Given the description of an element on the screen output the (x, y) to click on. 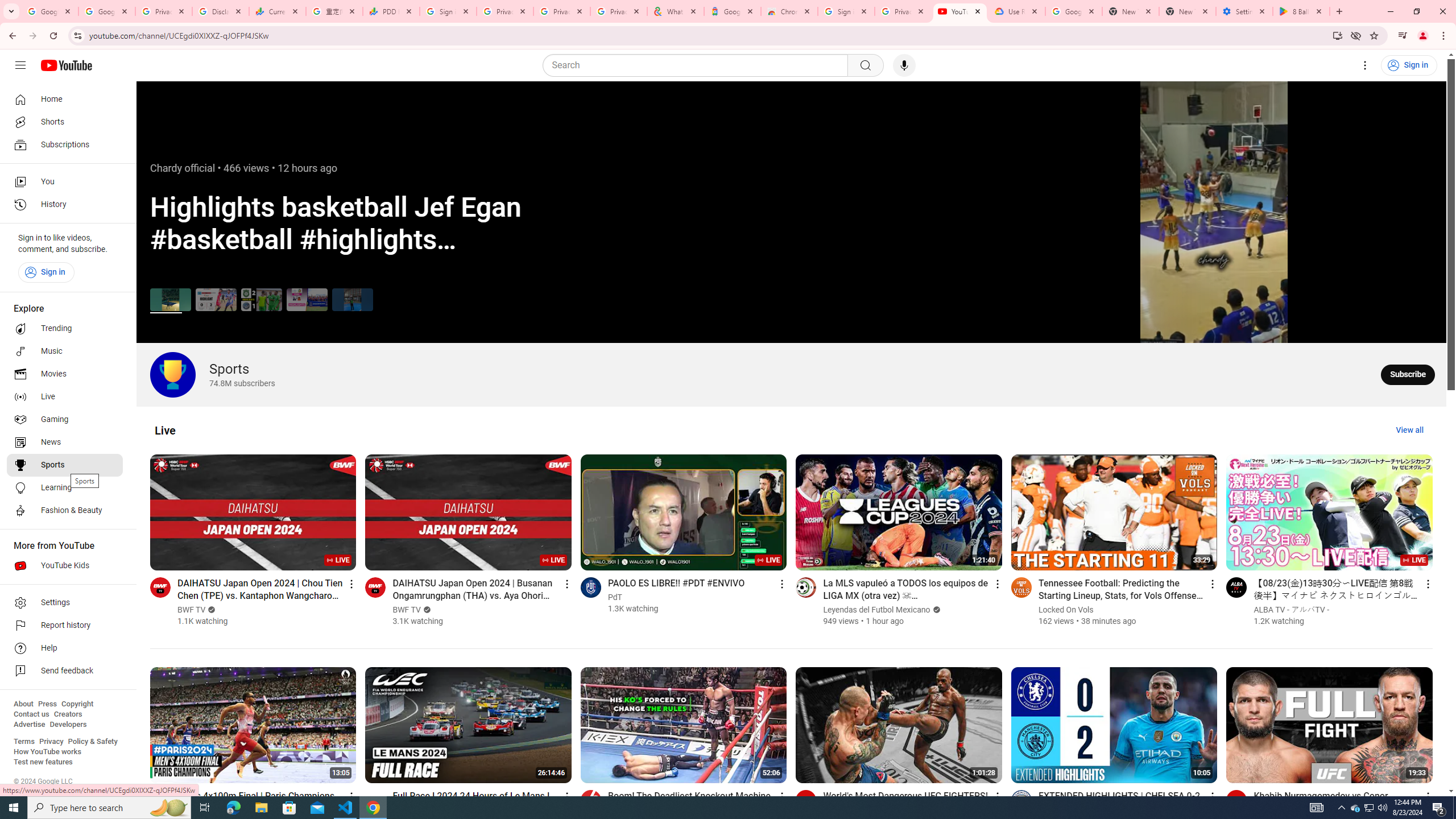
YouTube Home (66, 65)
Currencies - Google Finance (277, 11)
Creators (67, 714)
Guide (20, 65)
Privacy Checkup (618, 11)
Copyright (77, 703)
Install YouTube (1336, 35)
Search with your voice (903, 65)
